Given the description of an element on the screen output the (x, y) to click on. 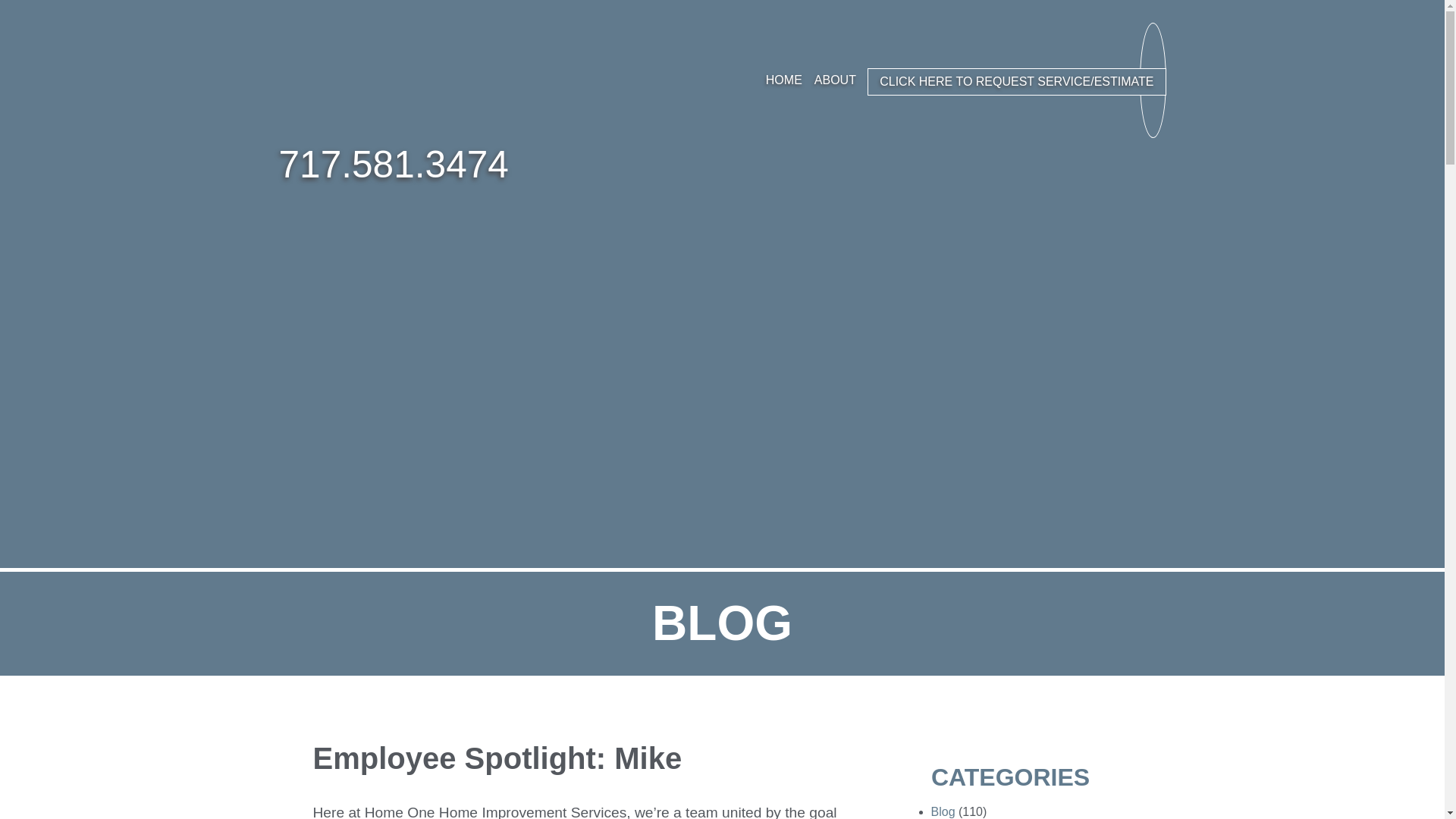
Blog (943, 811)
BLOG (1034, 80)
PROJECTS (973, 80)
CONTACT (1092, 80)
717.581.3474 (393, 164)
ABOUT (834, 80)
SERVICES (898, 80)
HOME (784, 80)
